Given the description of an element on the screen output the (x, y) to click on. 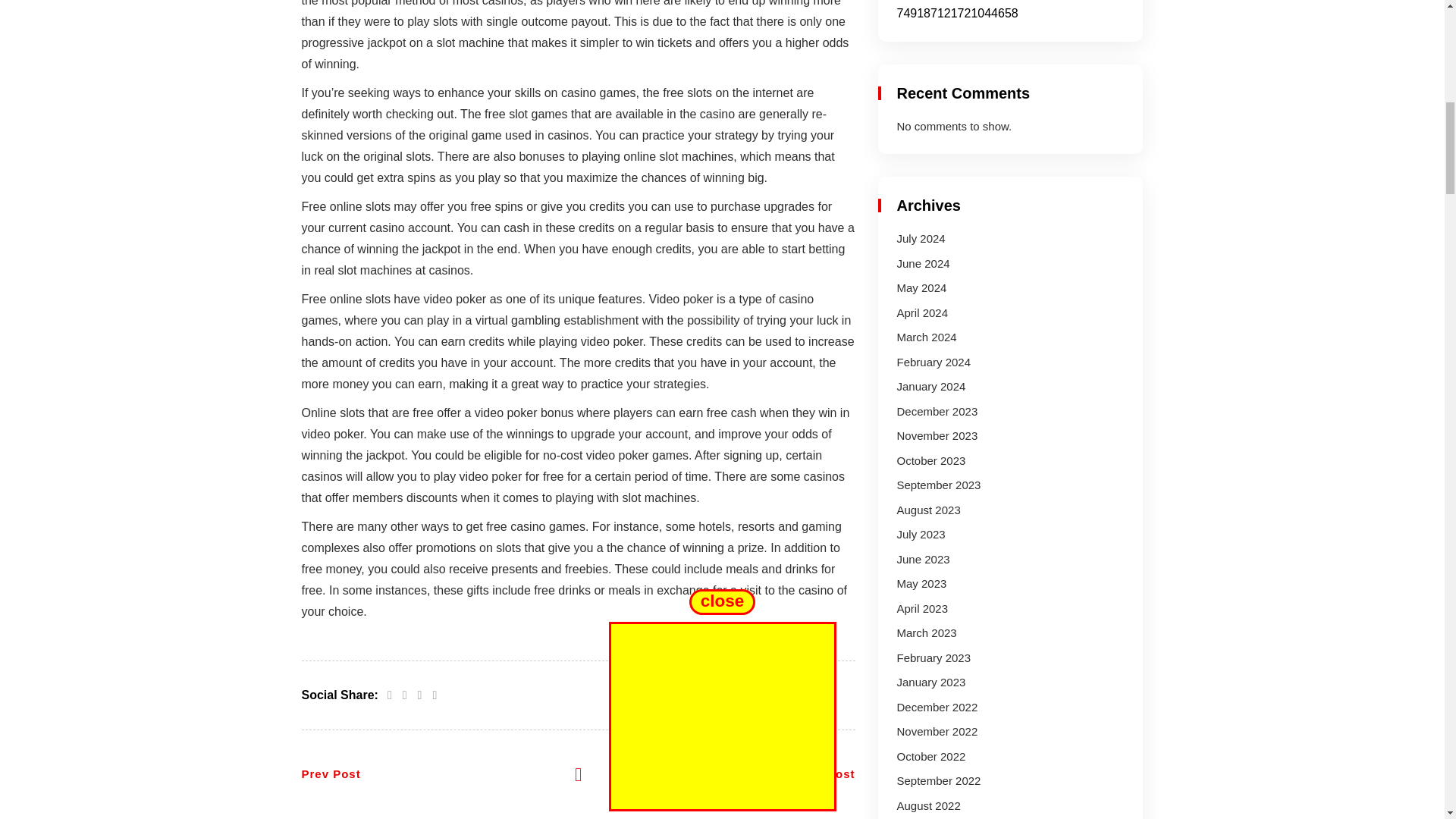
Prev Post (331, 773)
749187121721044658 (956, 12)
July 2024 (920, 237)
Next Post (824, 773)
